Given the description of an element on the screen output the (x, y) to click on. 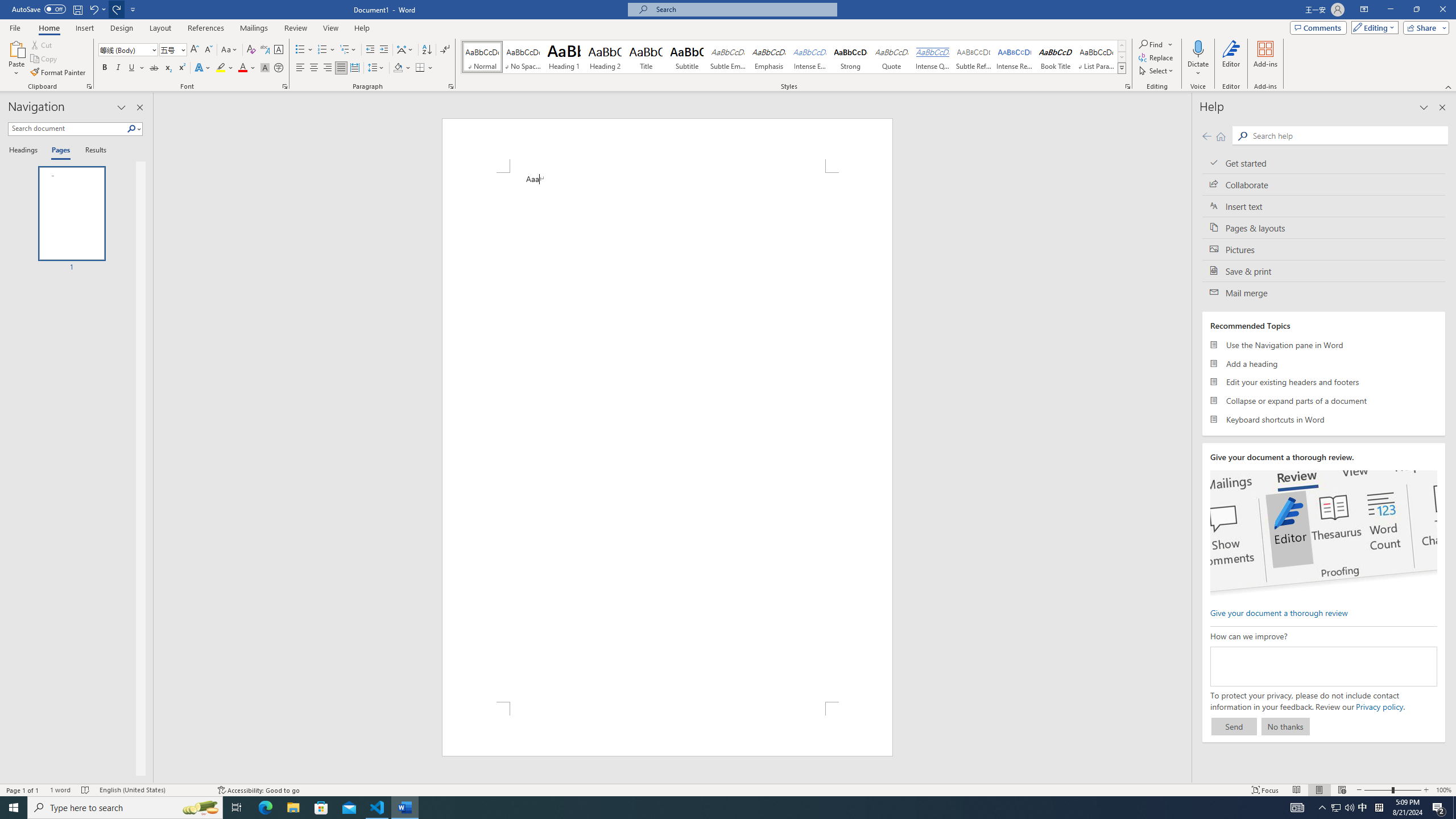
Replace... (1156, 56)
Pages (59, 150)
Styles (1121, 67)
AutomationID: QuickStylesGallery (794, 56)
Increase Indent (383, 49)
Keyboard shortcuts in Word (1323, 419)
Superscript (180, 67)
Character Shading (264, 67)
Search document (66, 128)
Insert text (1323, 206)
